Given the description of an element on the screen output the (x, y) to click on. 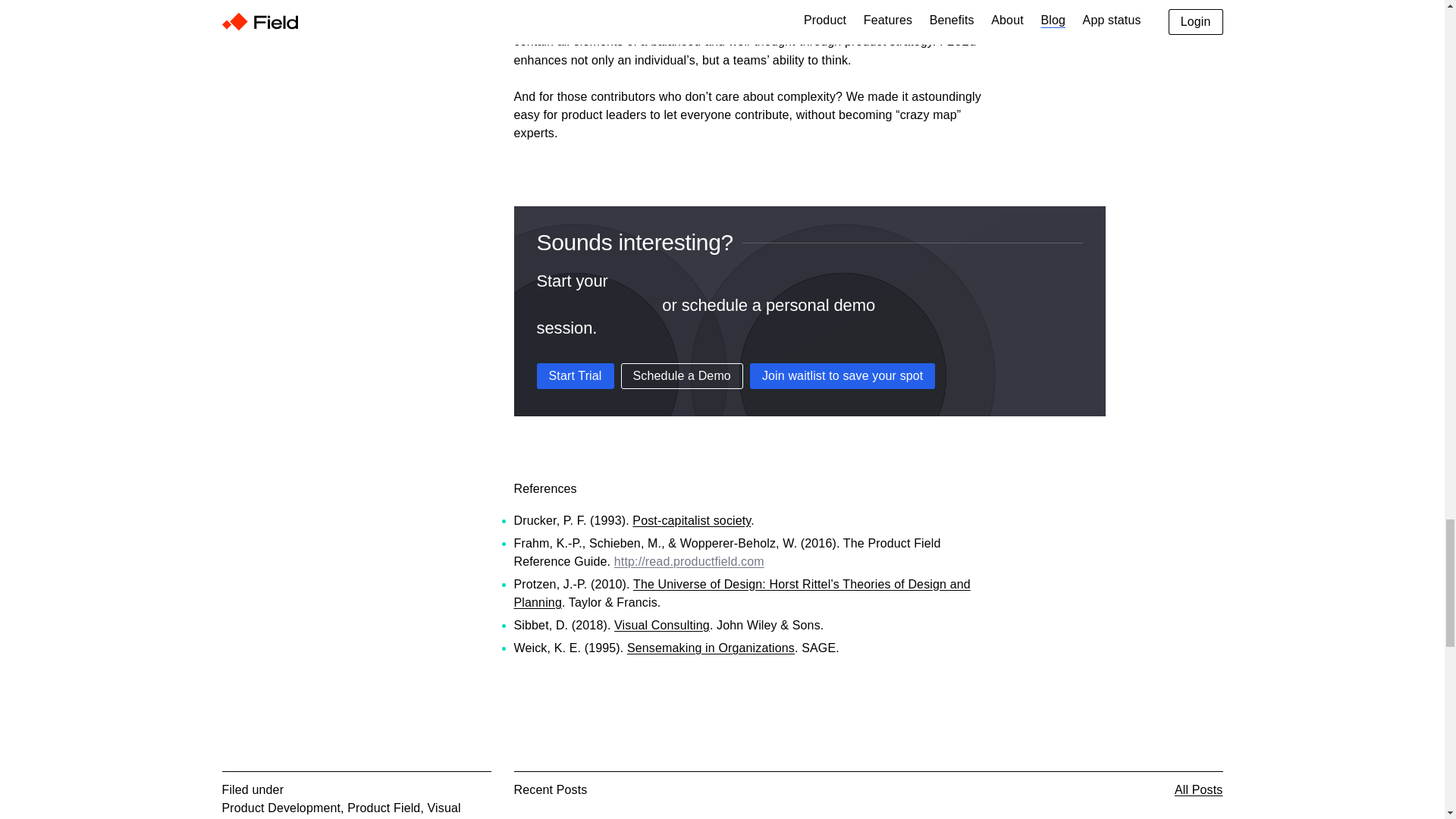
Sensemaking in Organizations (710, 647)
All Posts (1198, 790)
Schedule a Demo (681, 376)
Join waitlist to save your spot (842, 376)
Visual Consulting (662, 625)
Post-capitalist society (691, 520)
Start Trial (575, 376)
